Given the description of an element on the screen output the (x, y) to click on. 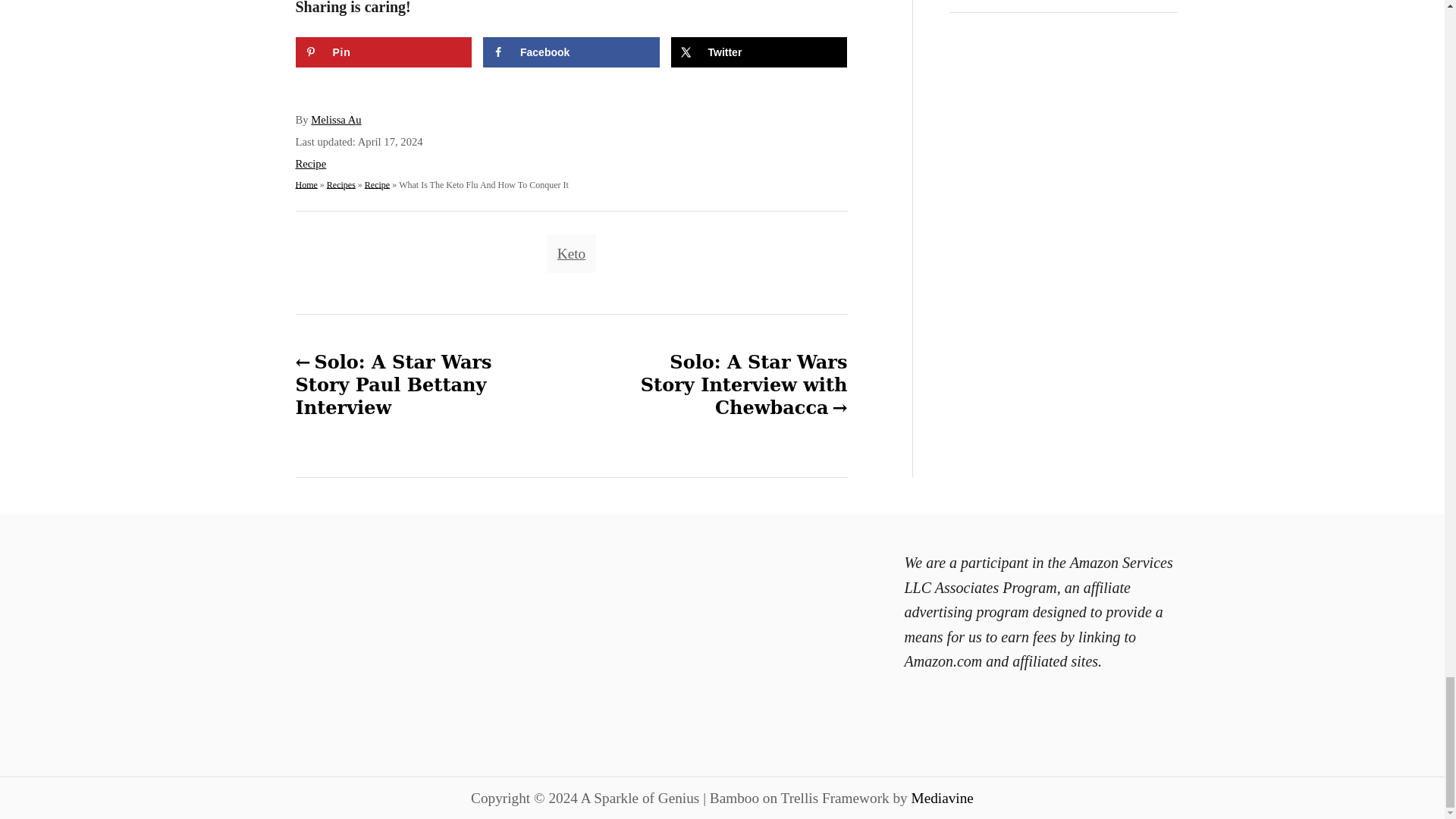
Home (306, 184)
Pin (383, 51)
Twitter (758, 51)
Melissa Au (336, 119)
Share on Facebook (571, 51)
Share on X (758, 51)
Recipes (340, 184)
Save to Pinterest (383, 51)
Facebook (571, 51)
Recipe (310, 163)
